Given the description of an element on the screen output the (x, y) to click on. 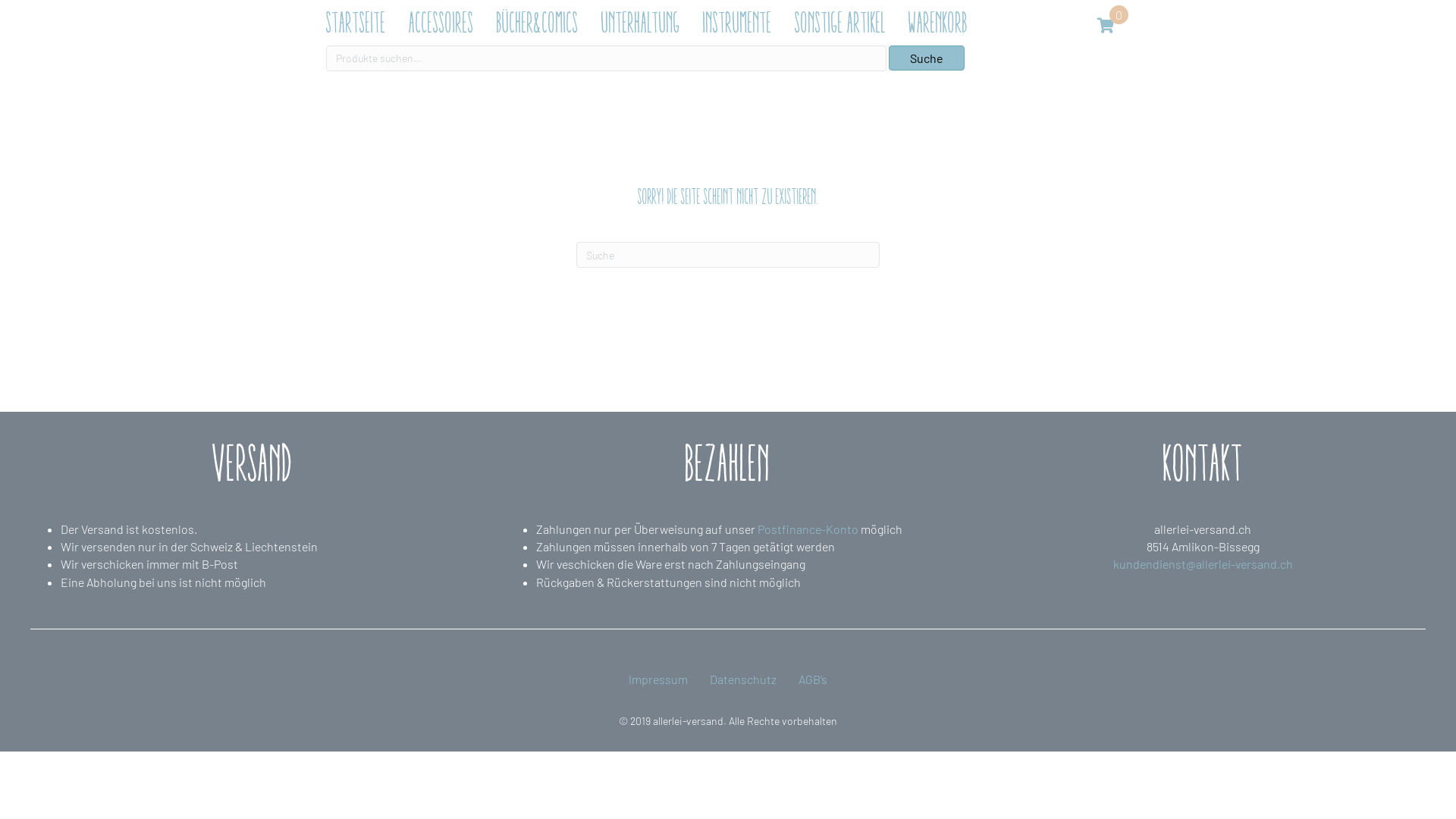
Impressum Element type: text (658, 678)
0 Element type: text (1113, 16)
Postfinance-Konto Element type: text (807, 528)
Unterhaltung Element type: text (644, 22)
kundendienst@allerlei-versand.ch Element type: text (1202, 563)
Accessoires Element type: text (445, 22)
Sonstige Artikel Element type: text (843, 22)
Suchbegriff hier eingeben ... Element type: hover (727, 254)
Datenschutz Element type: text (743, 678)
Warenkorb Element type: text (941, 22)
Startseite Element type: text (359, 22)
Instrumente Element type: text (741, 22)
Suche Element type: text (926, 57)
